Given the description of an element on the screen output the (x, y) to click on. 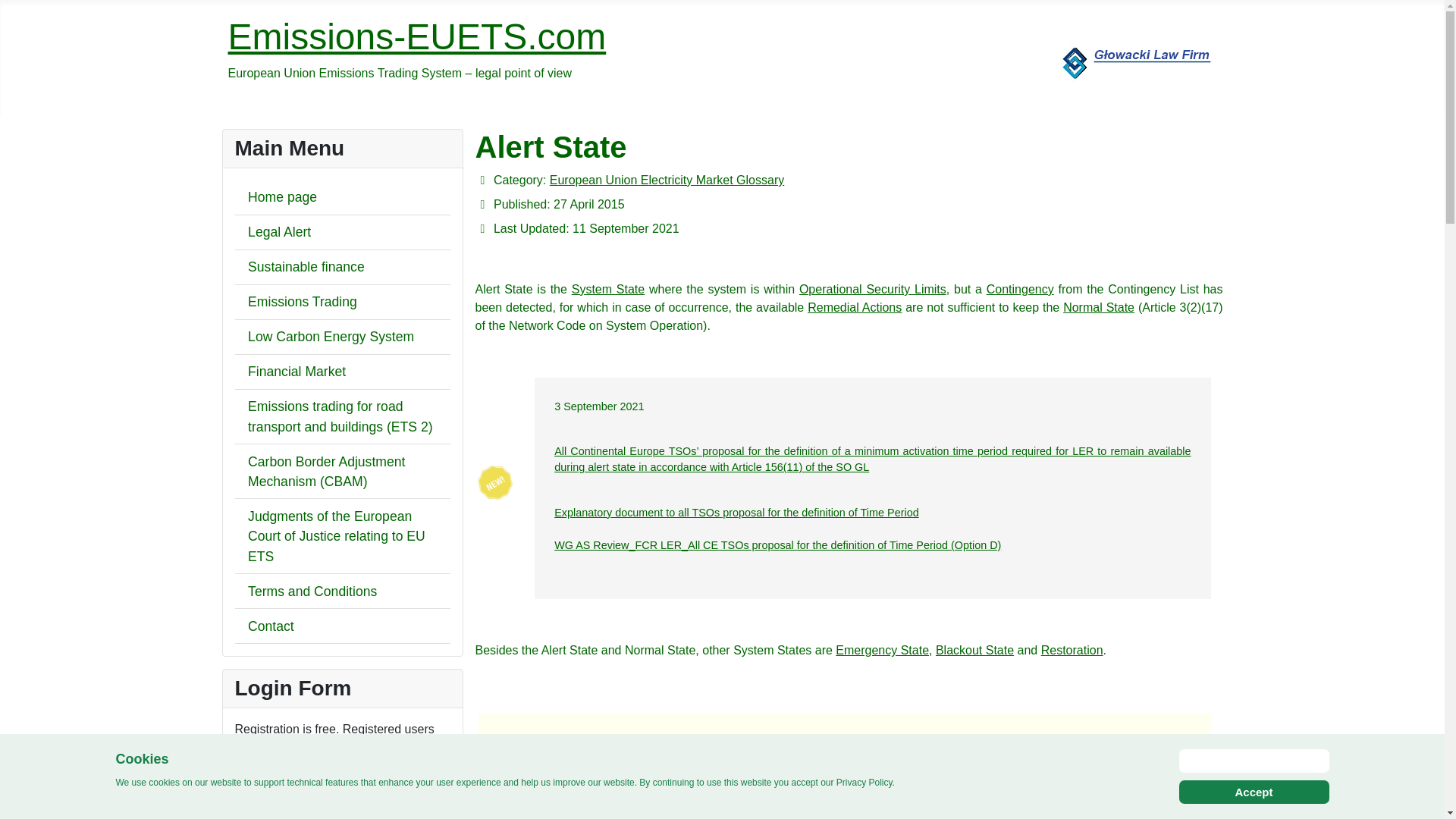
Contingency (1020, 288)
Financial Market (296, 371)
European Union Electricity Market Glossary (667, 179)
Contact (270, 626)
Emissions-EUETS.com (416, 36)
Normal State (1098, 307)
Operational Security Limits (872, 288)
Emissions Trading (301, 301)
System State (608, 288)
Emissions-EUETS.com (416, 36)
